Given the description of an element on the screen output the (x, y) to click on. 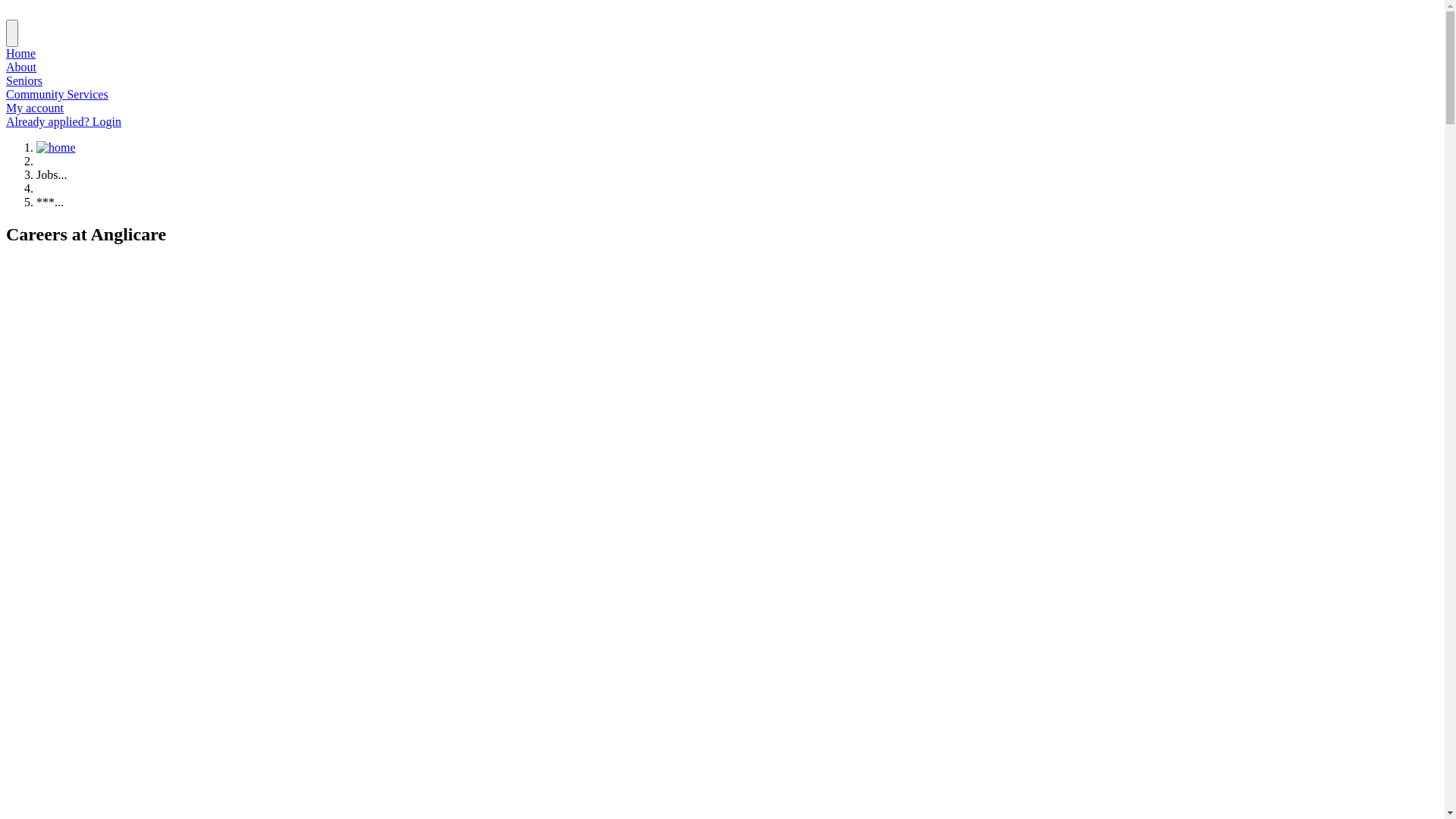
About Element type: text (21, 66)
Home Element type: text (20, 53)
Already applied? Login Element type: text (63, 121)
Jobs... Element type: text (51, 174)
Community Services Element type: text (57, 93)
***... Element type: text (49, 201)
My account Element type: text (34, 107)
Seniors Element type: text (24, 80)
